Given the description of an element on the screen output the (x, y) to click on. 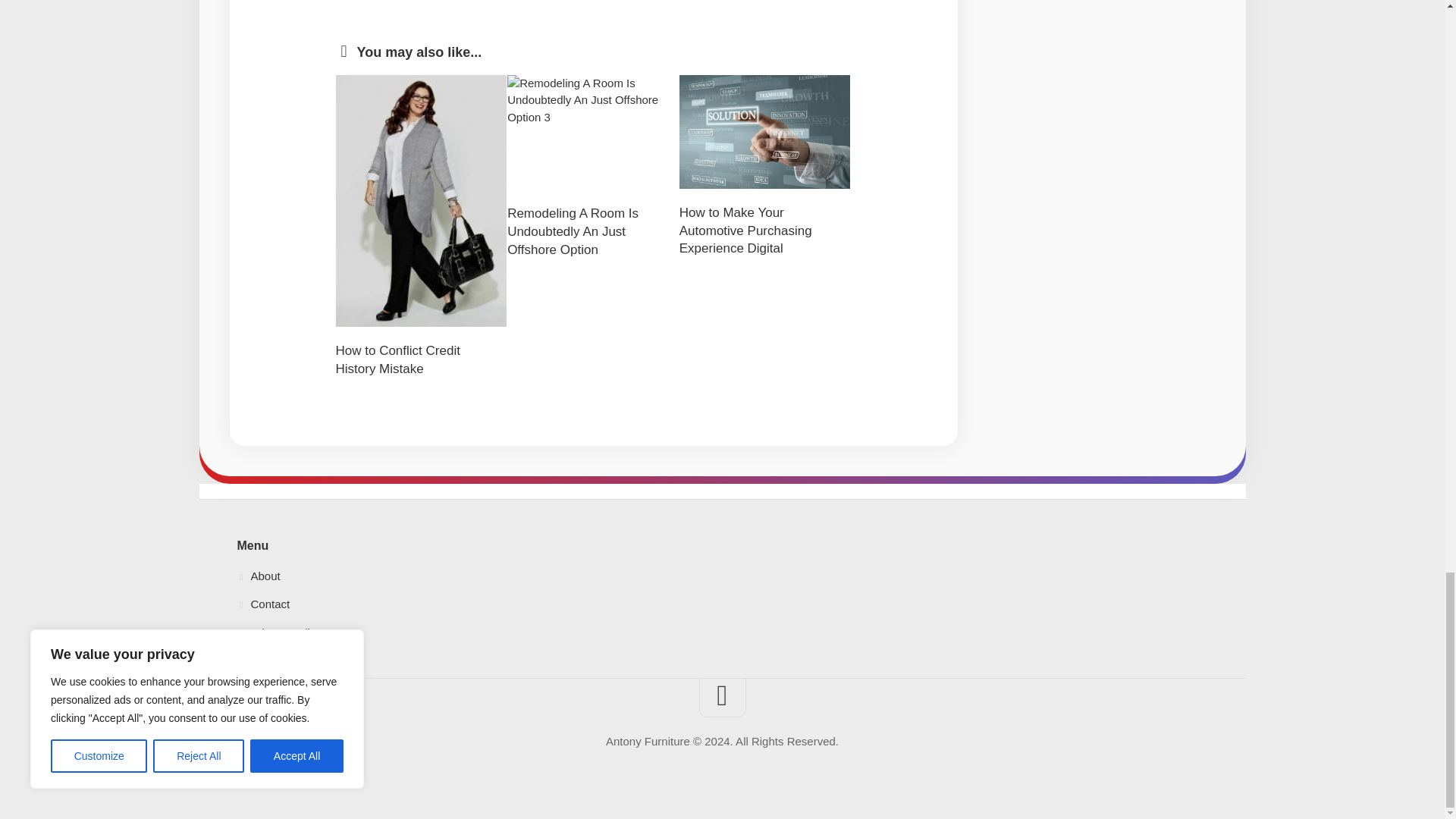
How to Conflict Credit History Mistake (397, 359)
Remodeling A Room Is Undoubtedly An Just Offshore Option (572, 231)
How to Make Your Automotive Purchasing Experience Digital (745, 230)
